Given the description of an element on the screen output the (x, y) to click on. 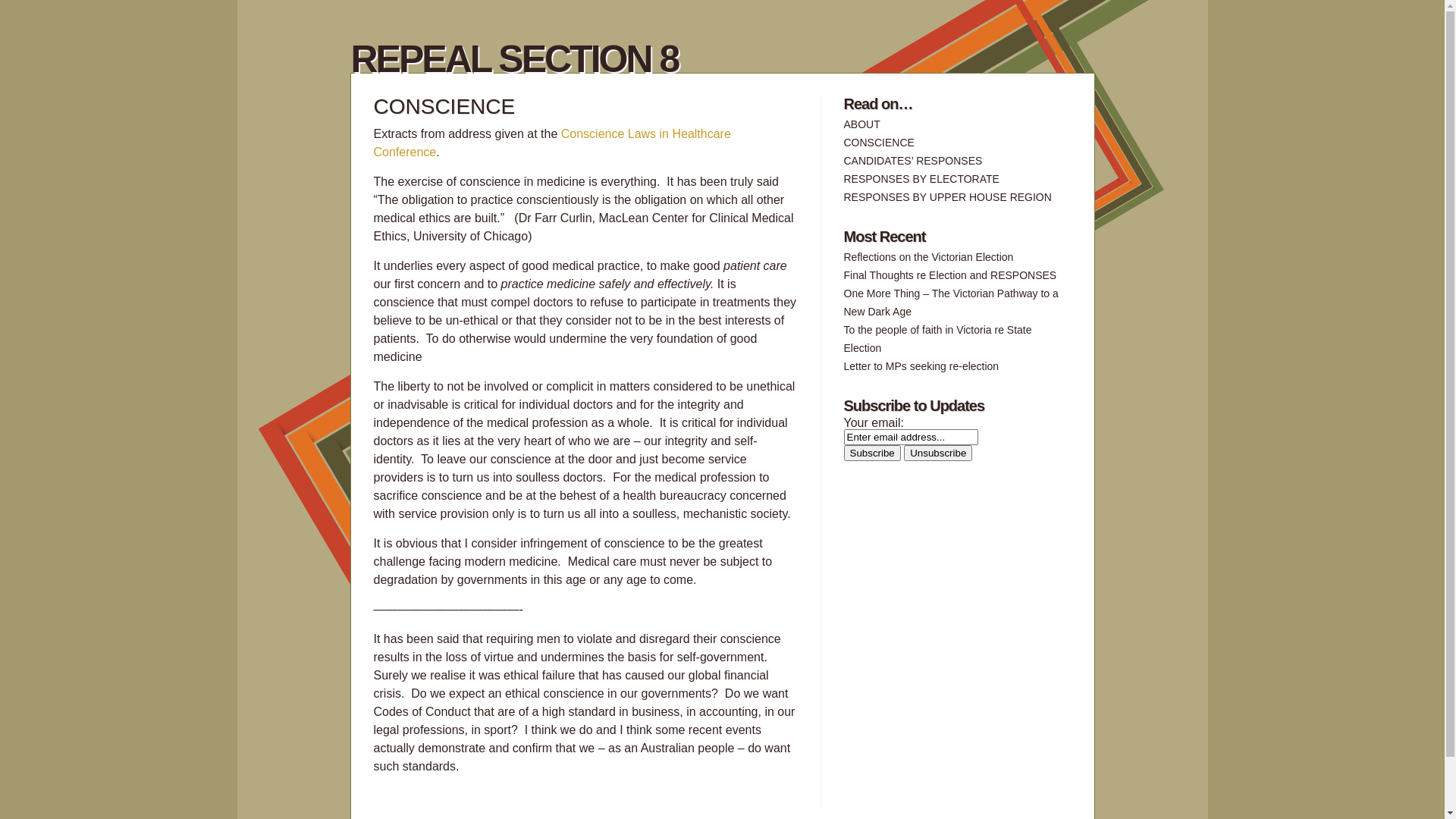
Unsubscribe Element type: text (937, 453)
RESPONSES BY ELECTORATE Element type: text (920, 178)
To the people of faith in Victoria re State Election Element type: text (937, 338)
Final Thoughts re Election and RESPONSES Element type: text (949, 275)
Reflections on the Victorian Election Element type: text (928, 257)
RESPONSES BY UPPER HOUSE REGION Element type: text (947, 197)
Subscribe Element type: text (871, 453)
CONSCIENCE Element type: text (878, 142)
Letter to MPs seeking re-election Element type: text (920, 366)
ABOUT Element type: text (861, 124)
Conscience Laws in Healthcare Conference Element type: text (551, 142)
REPEAL SECTION 8 Element type: text (513, 58)
